Given the description of an element on the screen output the (x, y) to click on. 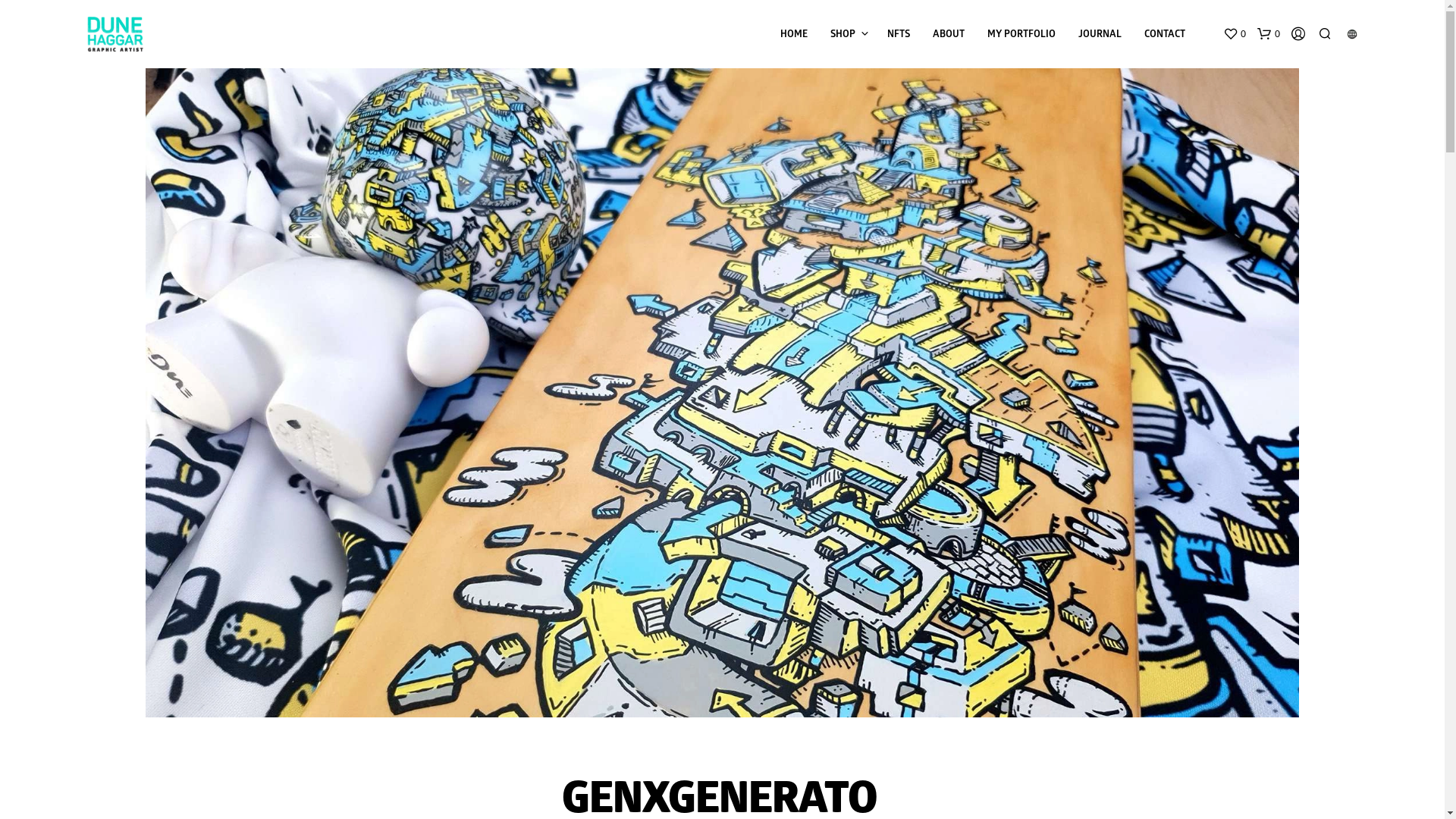
0 Element type: text (1268, 33)
NFTS Element type: text (897, 35)
SHOP Element type: text (842, 35)
MY PORTFOLIO Element type: text (1020, 35)
JOURNAL Element type: text (1099, 35)
ABOUT Element type: text (947, 35)
CONTACT Element type: text (1164, 35)
HOME Element type: text (793, 35)
0 Element type: text (1233, 33)
